Given the description of an element on the screen output the (x, y) to click on. 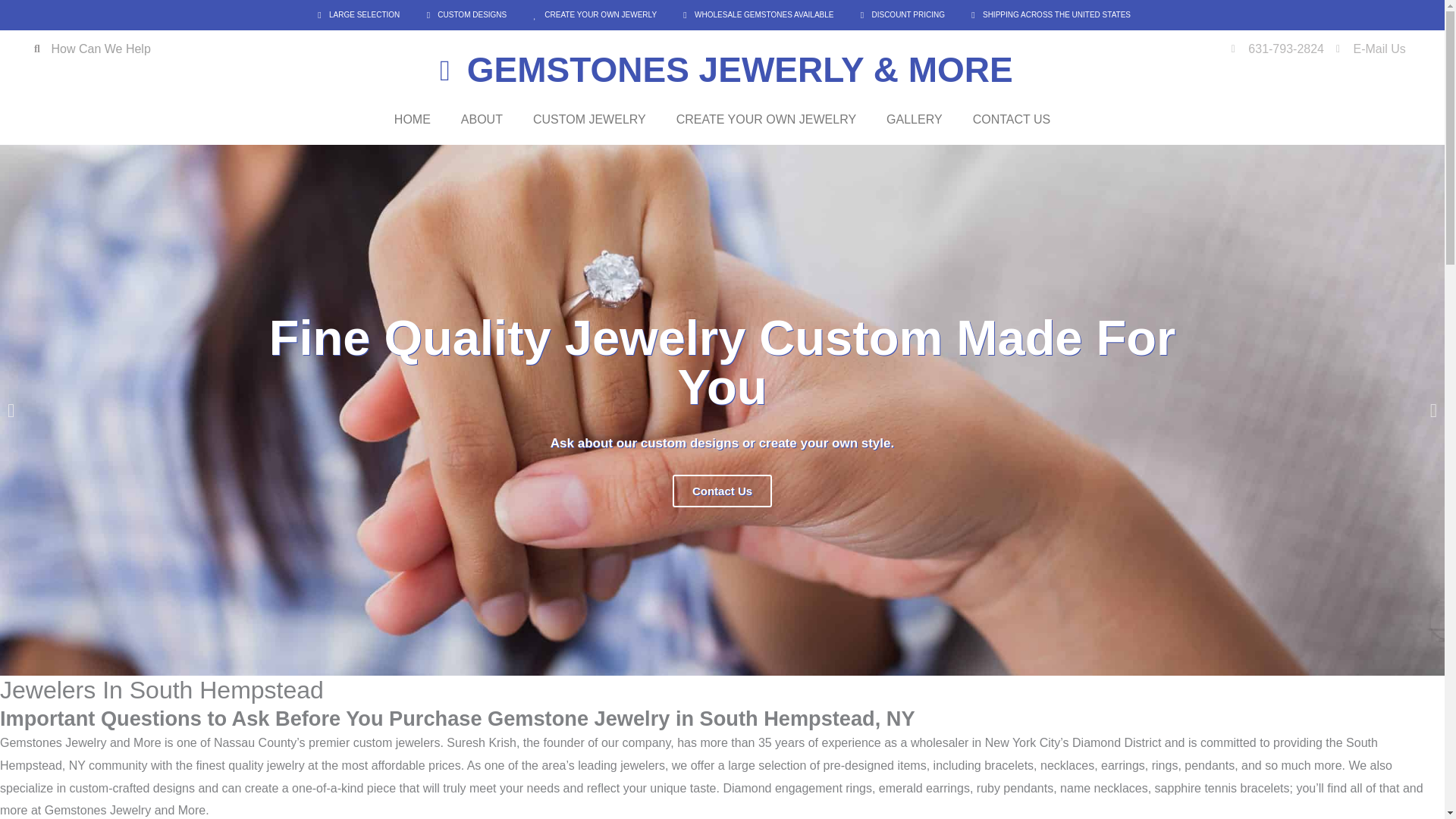
E-Mail Us (1371, 48)
ABOUT (481, 119)
CREATE YOUR OWN JEWELRY (765, 119)
CUSTOM JEWELRY (589, 119)
GALLERY (914, 119)
CONTACT US (1011, 119)
How Can We Help (92, 48)
HOME (411, 119)
